Given the description of an element on the screen output the (x, y) to click on. 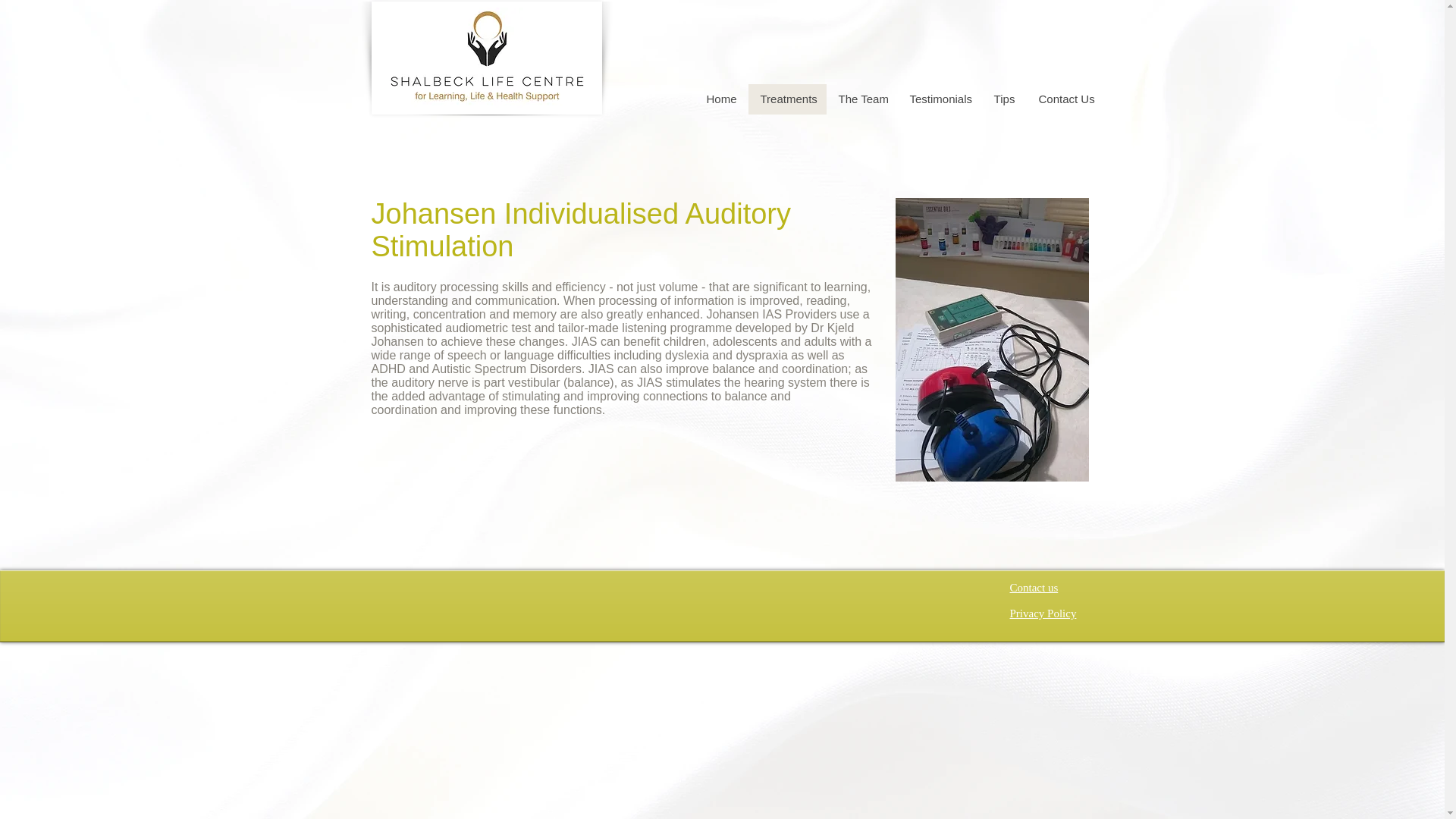
The Team (862, 99)
Treatments (786, 99)
Home (721, 99)
Testimonials (939, 99)
Privacy Policy (1043, 613)
Shalbeck Centre (486, 57)
Tips (1003, 99)
Contact Us (1066, 99)
Contact us (1034, 587)
